Given the description of an element on the screen output the (x, y) to click on. 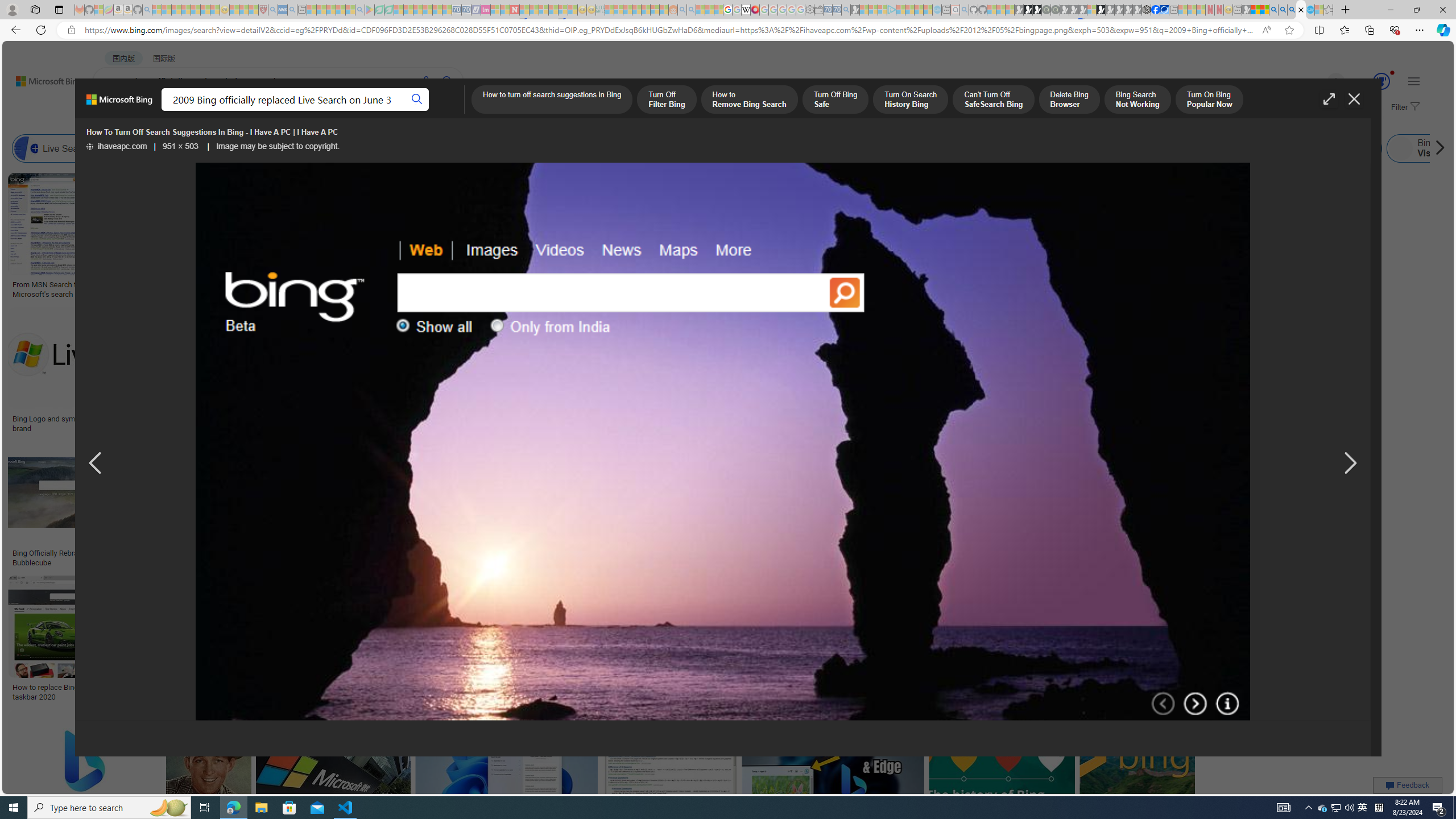
Microsoft Rewards 84 (1370, 81)
Bing Logo and symbol, meaning, history, PNG, brand (97, 423)
DICT (407, 111)
Search using voice (426, 80)
